Given the description of an element on the screen output the (x, y) to click on. 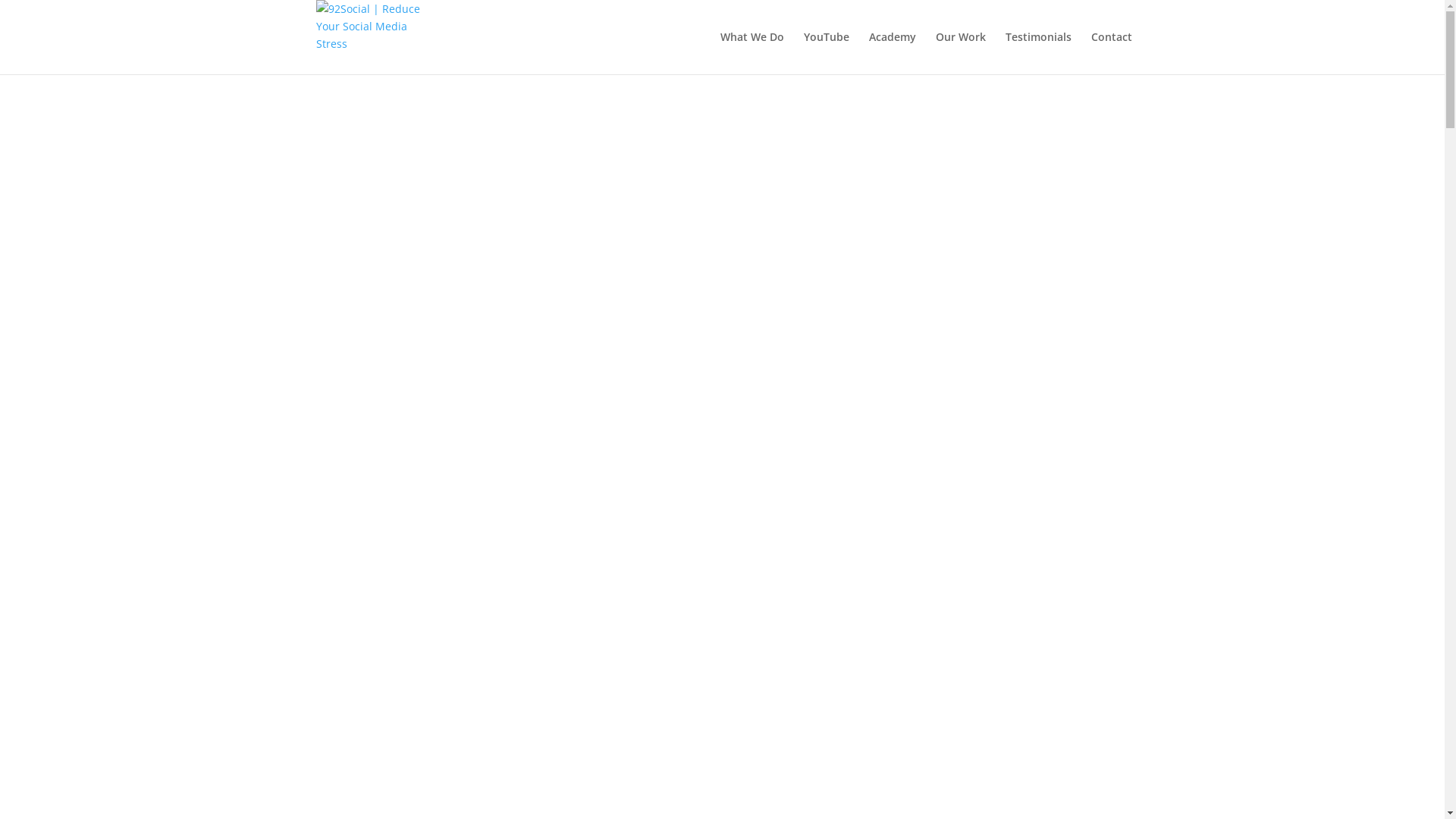
YouTube Element type: text (826, 52)
What We Do Element type: text (752, 52)
Contact Element type: text (1110, 52)
Academy Element type: text (892, 52)
Testimonials Element type: text (1038, 52)
Our Work Element type: text (960, 52)
